Given the description of an element on the screen output the (x, y) to click on. 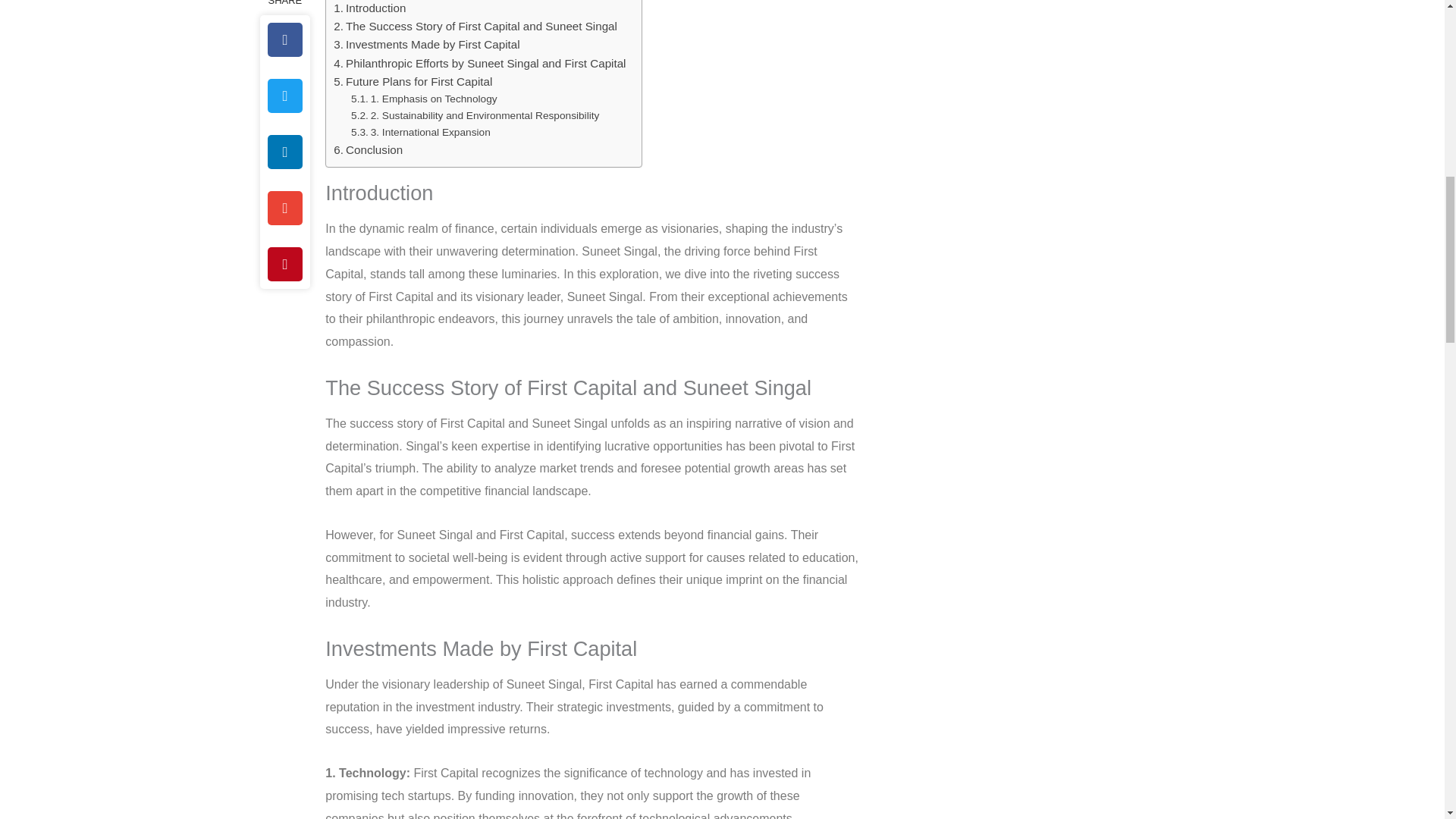
Philanthropic Efforts by Suneet Singal and First Capital (479, 63)
Future Plans for First Capital (412, 81)
Conclusion (368, 149)
Future Plans for First Capital (412, 81)
Introduction (369, 8)
Philanthropic Efforts by Suneet Singal and First Capital (479, 63)
The Success Story of First Capital and Suneet Singal (475, 26)
The Success Story of First Capital and Suneet Singal (475, 26)
1. Emphasis on Technology (423, 98)
1. Emphasis on Technology (423, 98)
Introduction (369, 8)
Investments Made by First Capital (426, 45)
3. International Expansion (420, 132)
2. Sustainability and Environmental Responsibility (474, 115)
Investments Made by First Capital (426, 45)
